Given the description of an element on the screen output the (x, y) to click on. 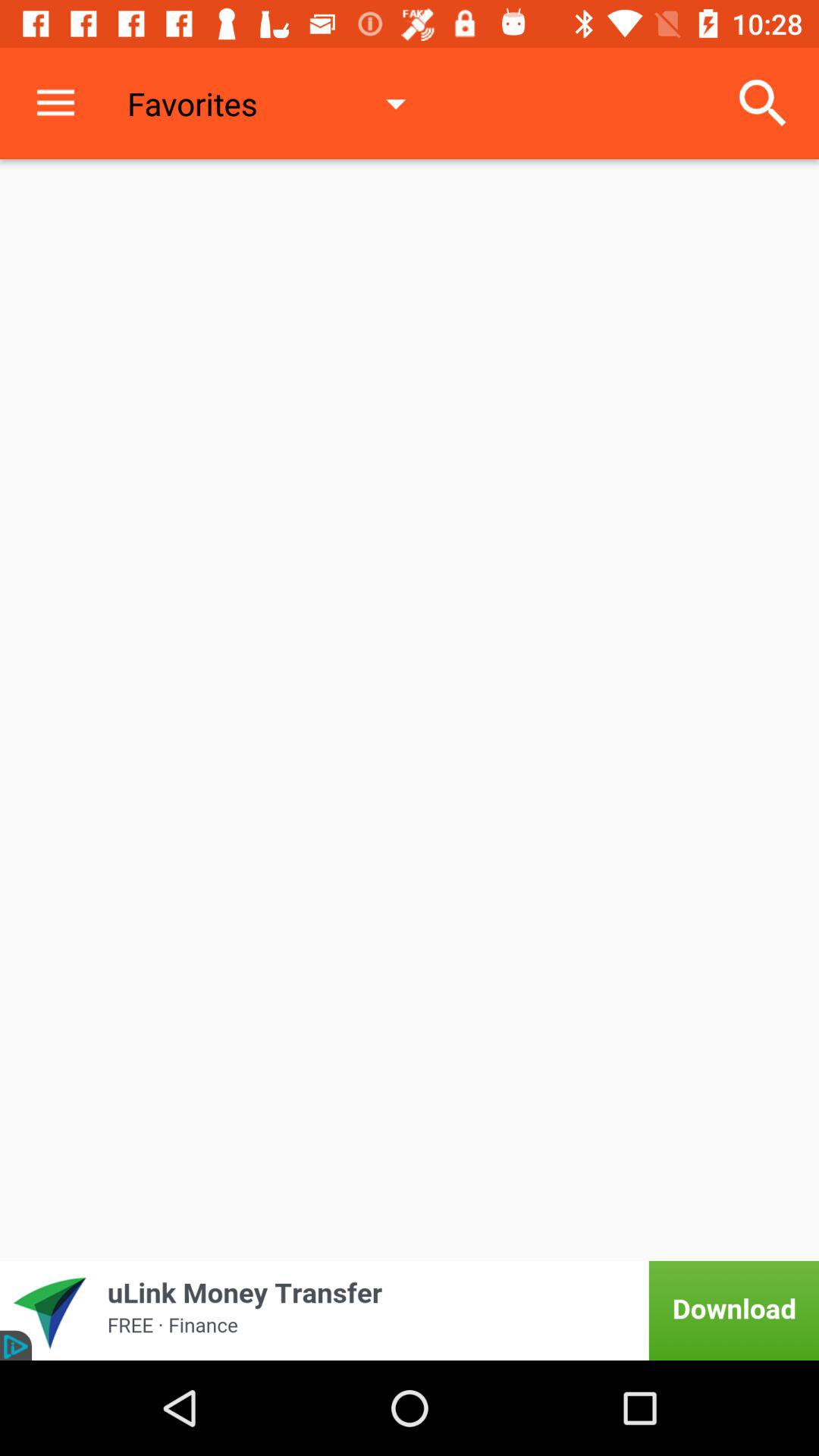
access advertisement (409, 1310)
